Given the description of an element on the screen output the (x, y) to click on. 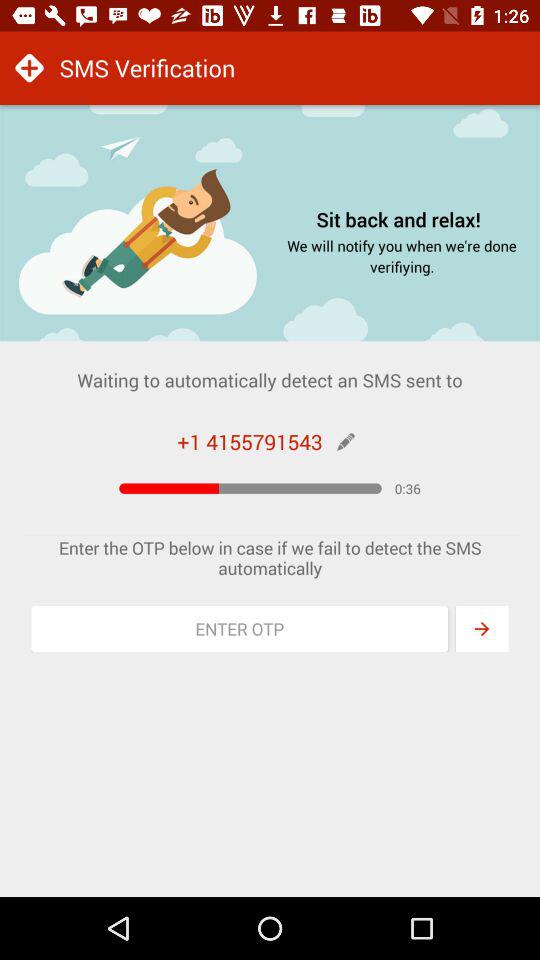
enter (482, 629)
